Given the description of an element on the screen output the (x, y) to click on. 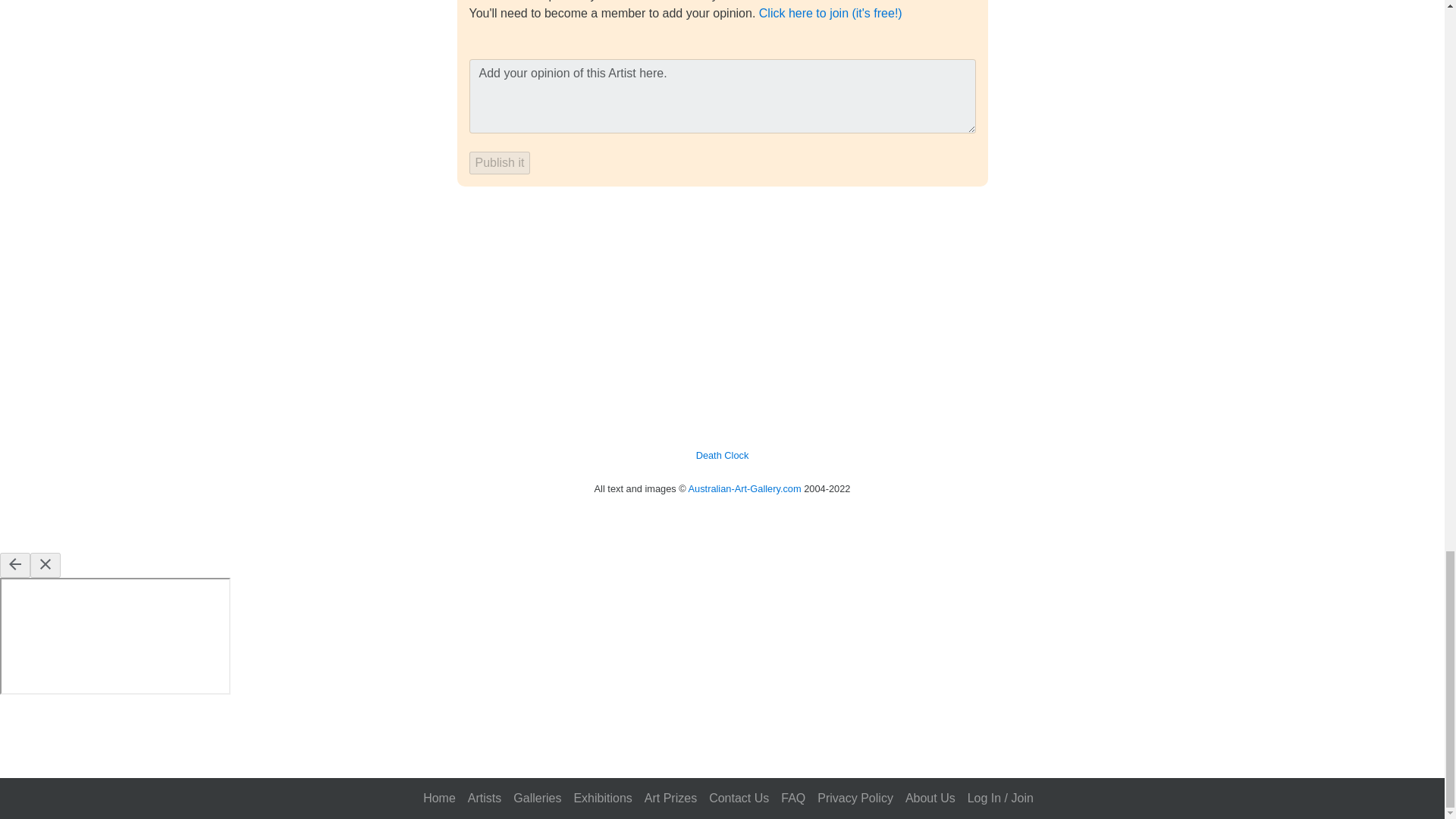
Australian-Art-Gallery.com (745, 488)
Publish it (498, 162)
Death Clock (722, 455)
Publish it (498, 162)
